Given the description of an element on the screen output the (x, y) to click on. 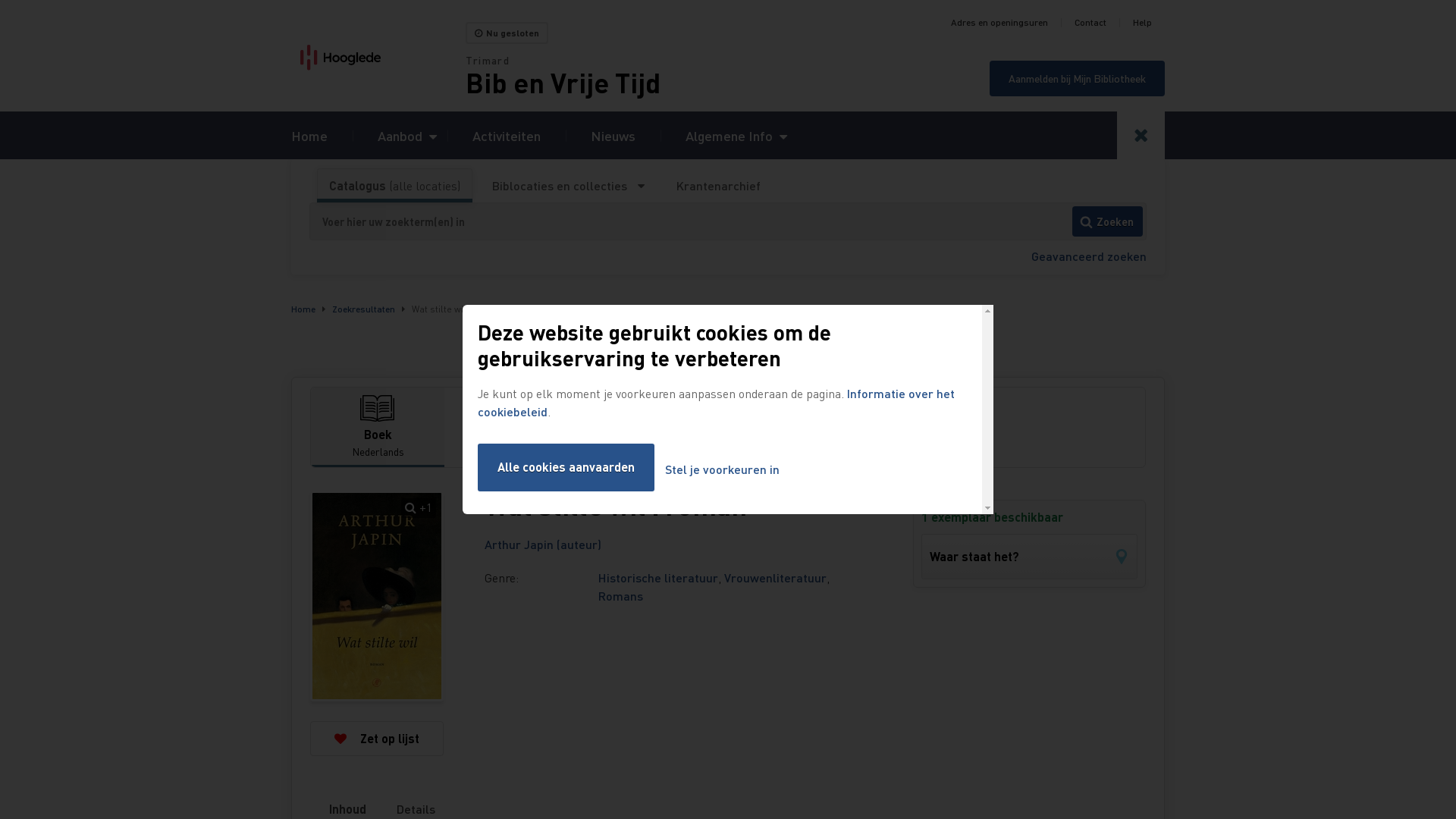
Contact Element type: text (1090, 22)
Home Element type: text (303, 308)
Toggle search Element type: hover (1140, 135)
Activiteiten Element type: text (506, 135)
Home Element type: hover (378, 56)
Stel je voorkeuren in Element type: text (722, 469)
Alle cookies aanvaarden Element type: text (565, 466)
Help Element type: text (1141, 22)
Nu gesloten Element type: text (506, 32)
Aanmelden bij Mijn Bibliotheek Element type: text (1076, 78)
Overslaan en naar zoeken gaan Element type: text (0, 0)
Krantenarchief Element type: text (718, 185)
Waar staat het? Element type: text (1029, 556)
Zoekresultaten Element type: text (363, 308)
Arthur Japin (auteur) Element type: text (542, 544)
Nieuws Element type: text (612, 135)
Geavanceerd zoeken Element type: text (1088, 255)
Historische literatuur Element type: text (658, 577)
Zoeken Element type: text (1107, 221)
Catalogus (alle locaties) Element type: text (394, 185)
Home Element type: text (309, 135)
Informatie over het cookiebeleid Element type: text (715, 402)
Zet op lijst Element type: text (376, 738)
Vrouwenliteratuur Element type: text (775, 577)
Biblocaties en collecties Element type: text (567, 185)
Adres en openingsuren Element type: text (999, 22)
Romans Element type: text (620, 595)
